Given the description of an element on the screen output the (x, y) to click on. 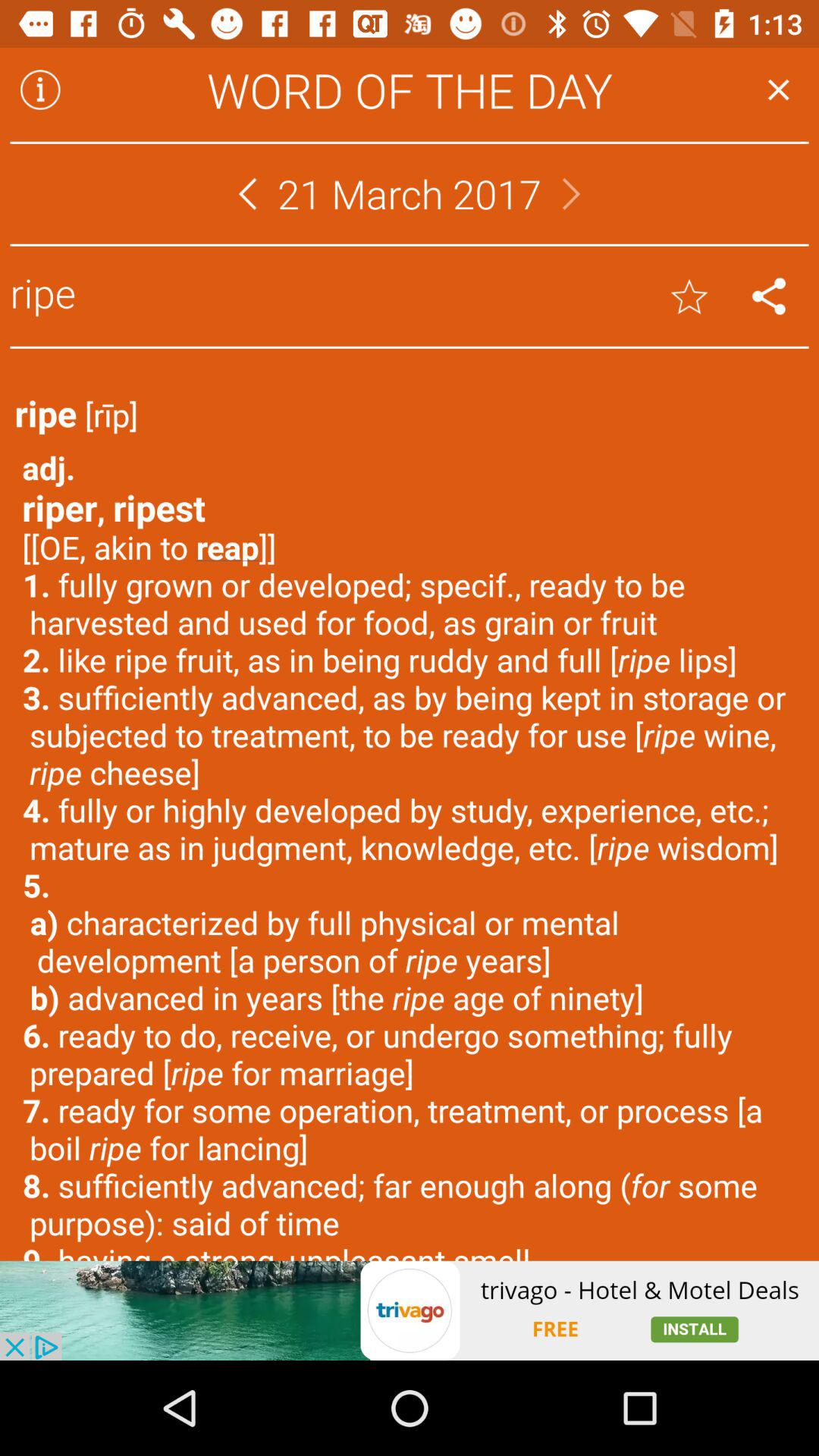
get additional information (40, 89)
